Given the description of an element on the screen output the (x, y) to click on. 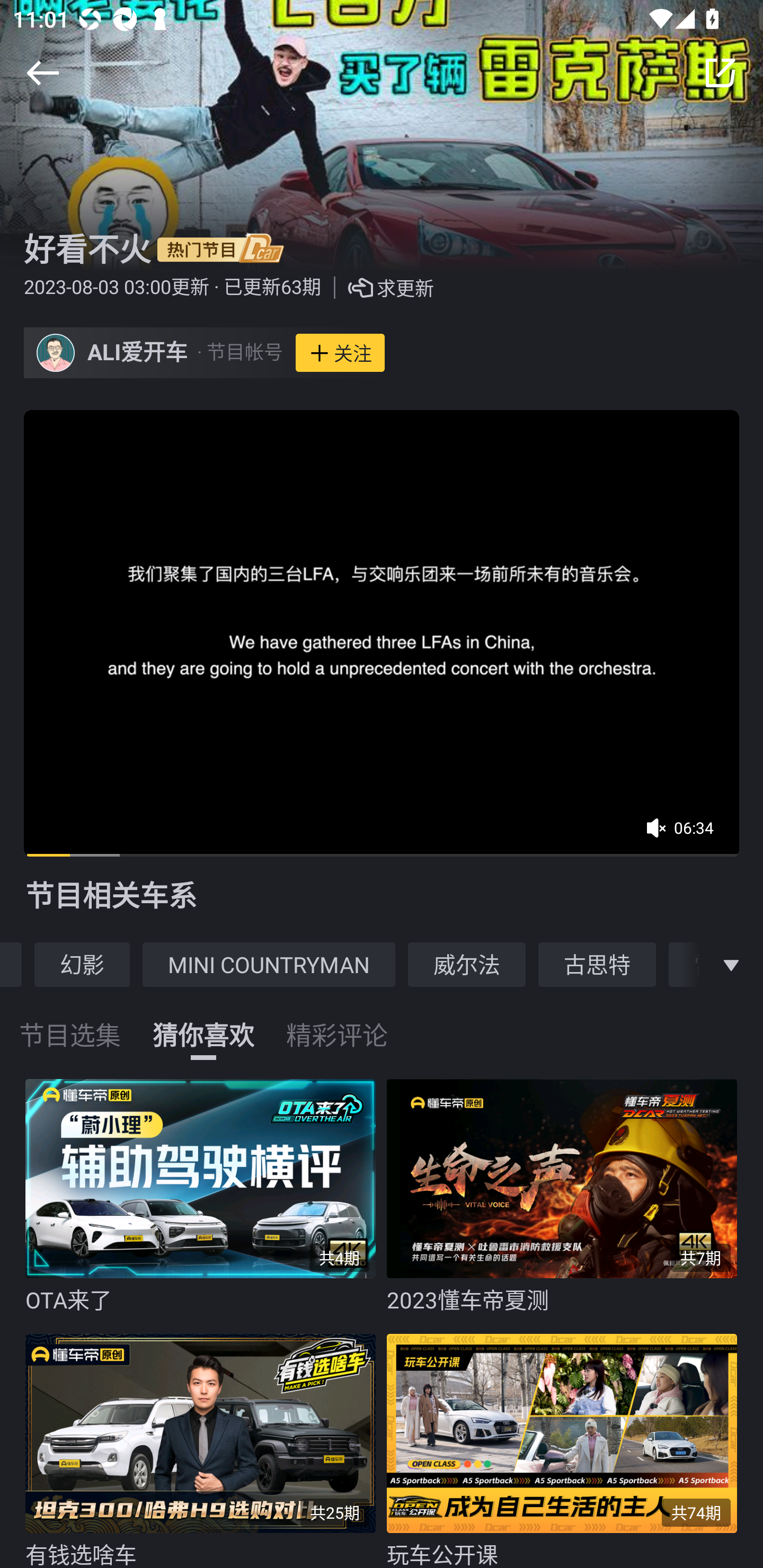
 (42, 72)
 (720, 72)
 求更新 (377, 287)
ALI爱开车 (137, 352)
· 节目帐号 (239, 352)
 关注 (340, 352)
06:34 (685, 834)
 (731, 963)
幻影 (81, 964)
MINI COUNTRYMAN (268, 964)
威尔法 (466, 964)
古思特 (597, 964)
节目选集 (69, 1023)
猜你喜欢 (203, 1023)
精彩评论 (336, 1023)
共4期 OTA来了 (205, 1196)
共7期 2023懂车帝夏测 (567, 1196)
共25期 有钱选啥车 (205, 1446)
共74期 玩车公开课 (567, 1446)
